Given the description of an element on the screen output the (x, y) to click on. 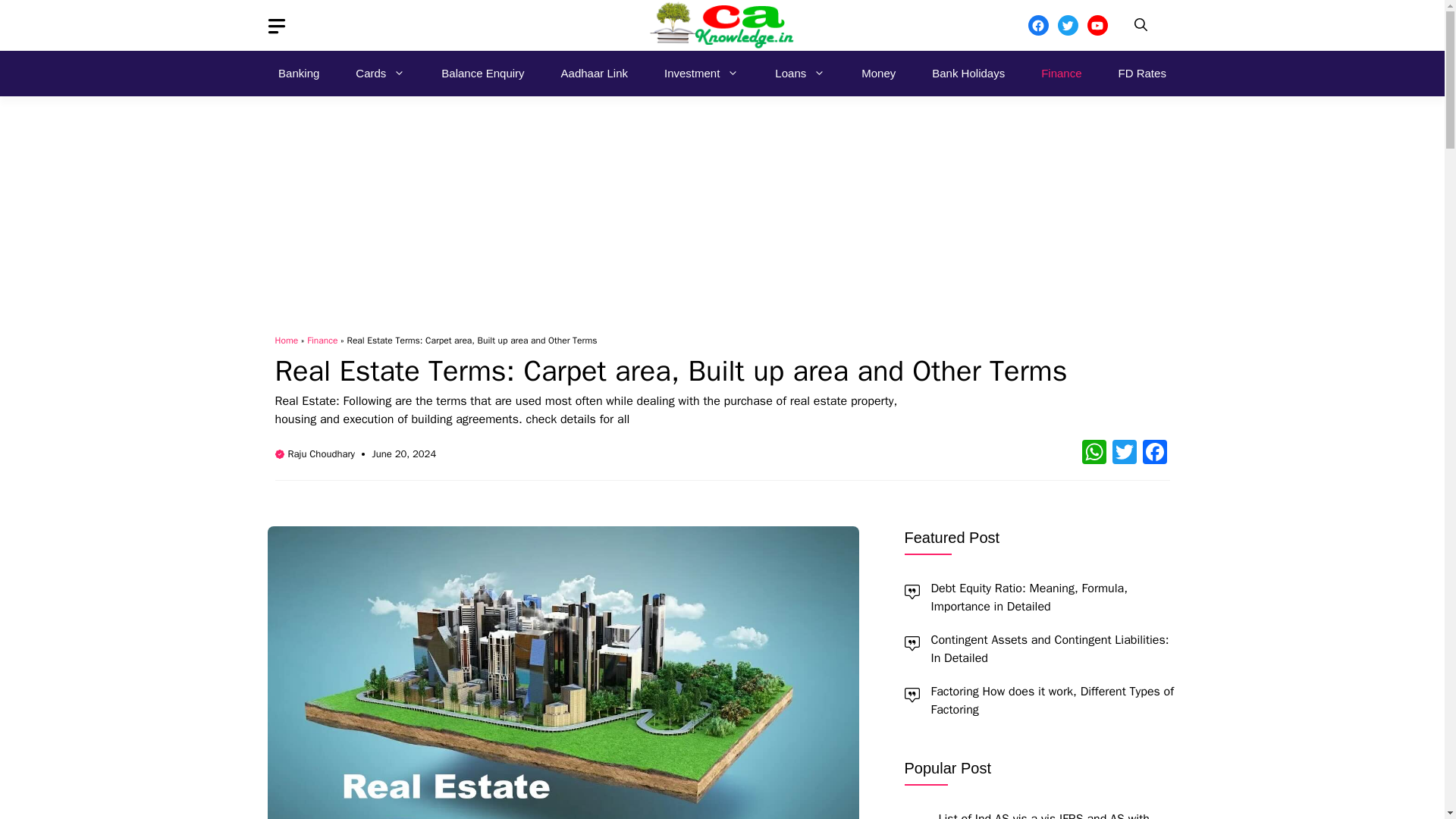
Facebook (1153, 453)
Finance (1061, 73)
Facebook (1153, 453)
Aadhaar Link (594, 73)
YouTube (1097, 25)
Finance (322, 340)
Twitter (1123, 453)
Twitter (1123, 453)
WhatsApp (1093, 453)
Twitter (1067, 25)
Balance Enquiry (482, 73)
Money (878, 73)
Bank Holidays (968, 73)
Facebook (1037, 25)
